Given the description of an element on the screen output the (x, y) to click on. 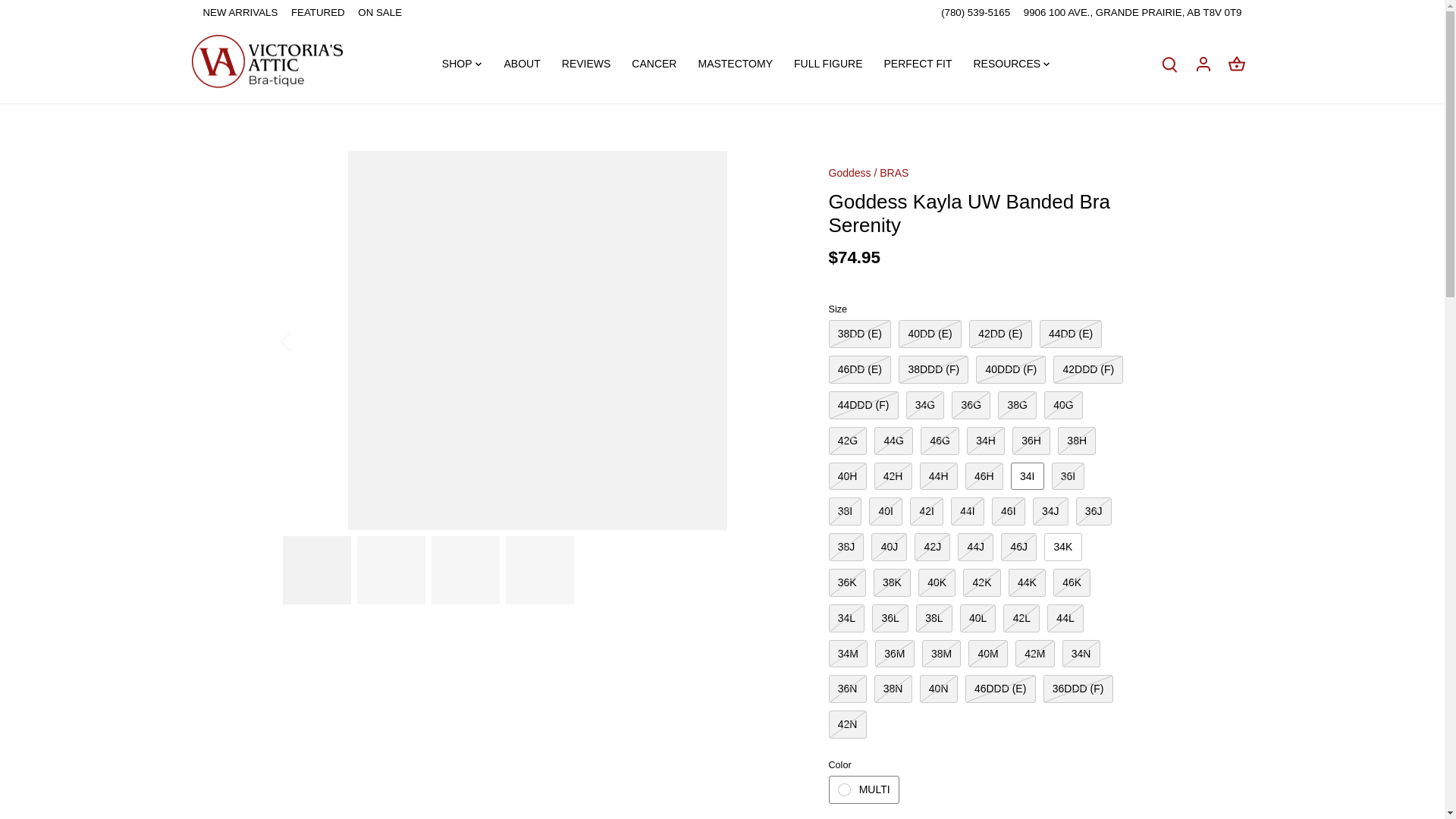
9906 100 AVE., GRANDE PRAIRIE, AB T8V 0T9 (1132, 12)
SHOP (462, 63)
FEATURED (318, 12)
ON SALE (379, 12)
NEW ARRIVALS (240, 12)
